Given the description of an element on the screen output the (x, y) to click on. 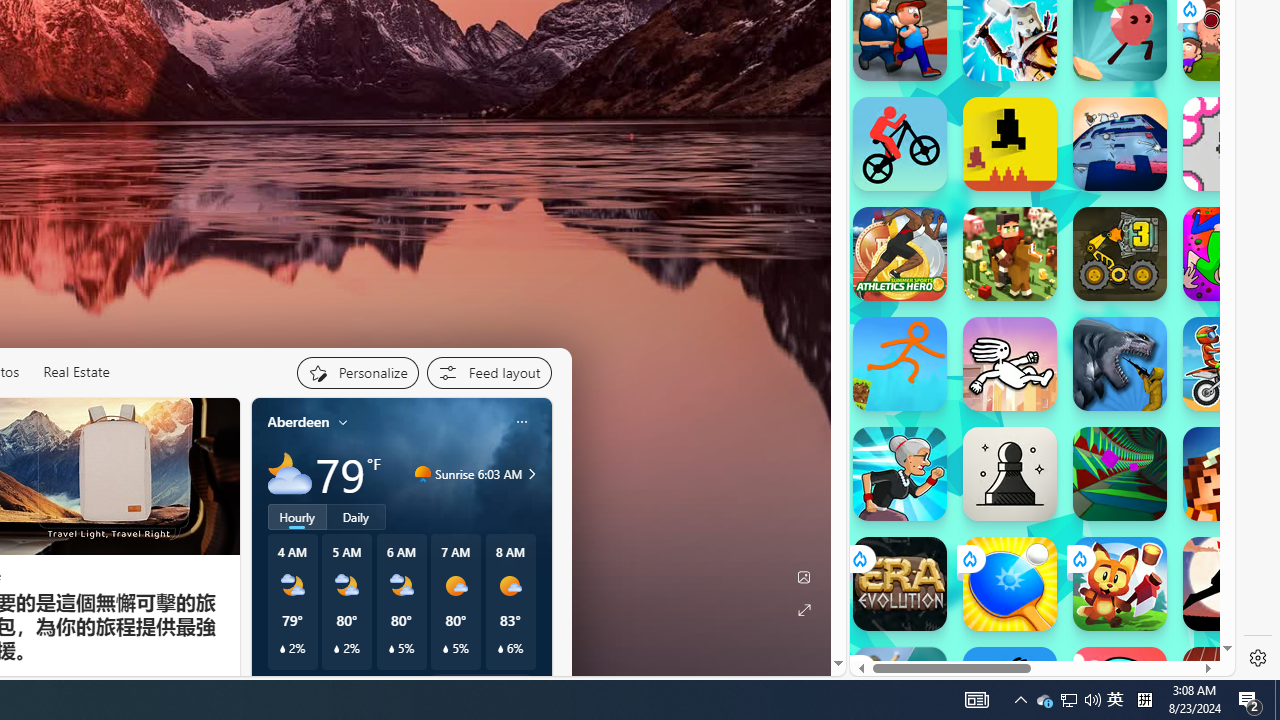
Class: rCs5cyEiqiTpYvt_VBCR (858, 669)
JollyWorld (1229, 253)
Class: weather-arrow-glyph (531, 474)
See full forecast (480, 685)
Mostly cloudy (289, 474)
BoxRob 3 BoxRob 3 (1119, 253)
Class: weather-current-precipitation-glyph (500, 649)
Lurkers.io (1229, 473)
Search results from poki.com (1005, 93)
